Given the description of an element on the screen output the (x, y) to click on. 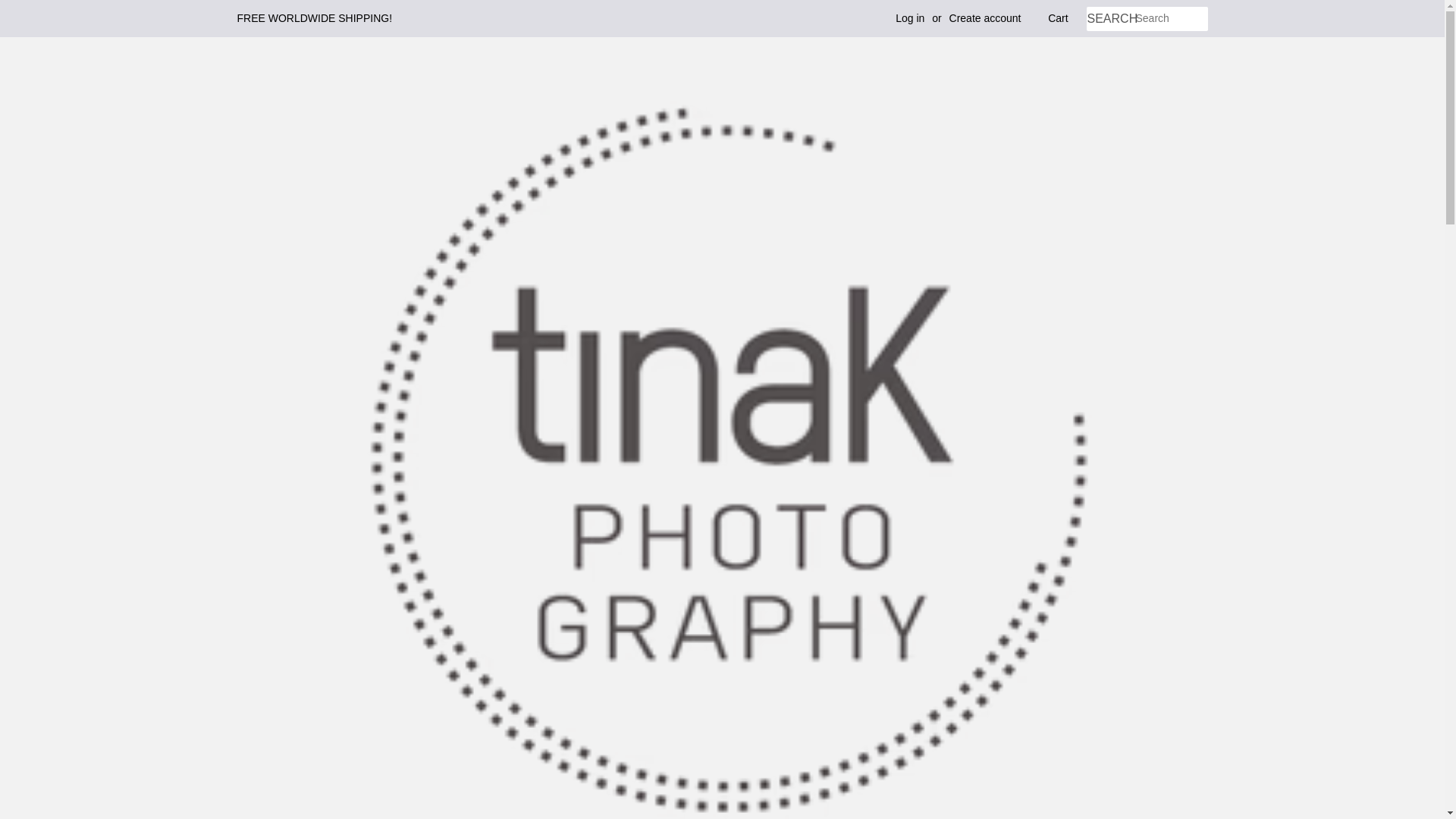
Create account (985, 18)
FREE WORLDWIDE SHIPPING! (313, 18)
Log in (909, 18)
SEARCH (1110, 18)
Cart (1057, 18)
